Given the description of an element on the screen output the (x, y) to click on. 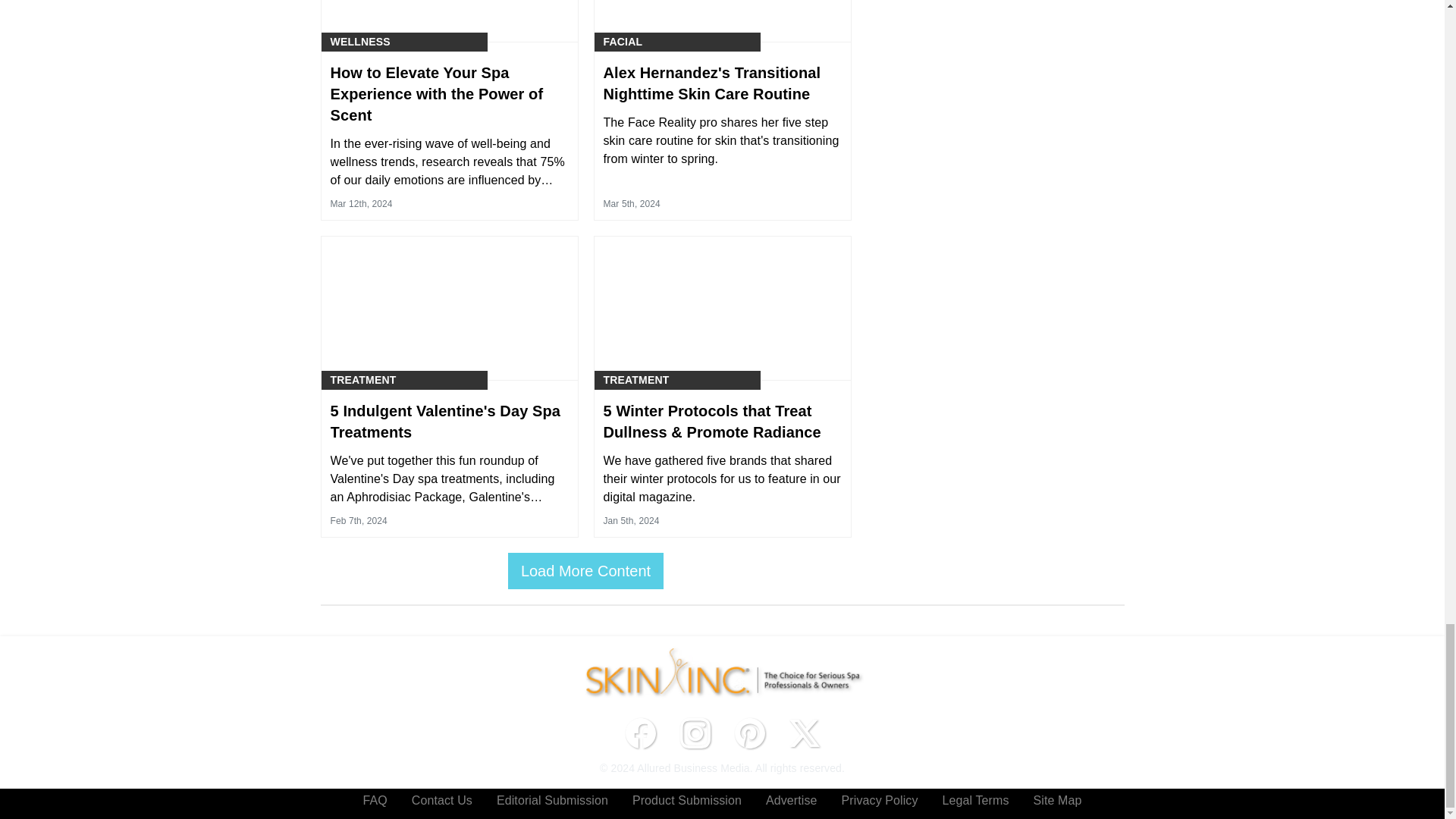
Twitter X icon (803, 733)
Facebook icon (639, 733)
Pinterest icon (748, 733)
Instagram icon (694, 733)
